Given the description of an element on the screen output the (x, y) to click on. 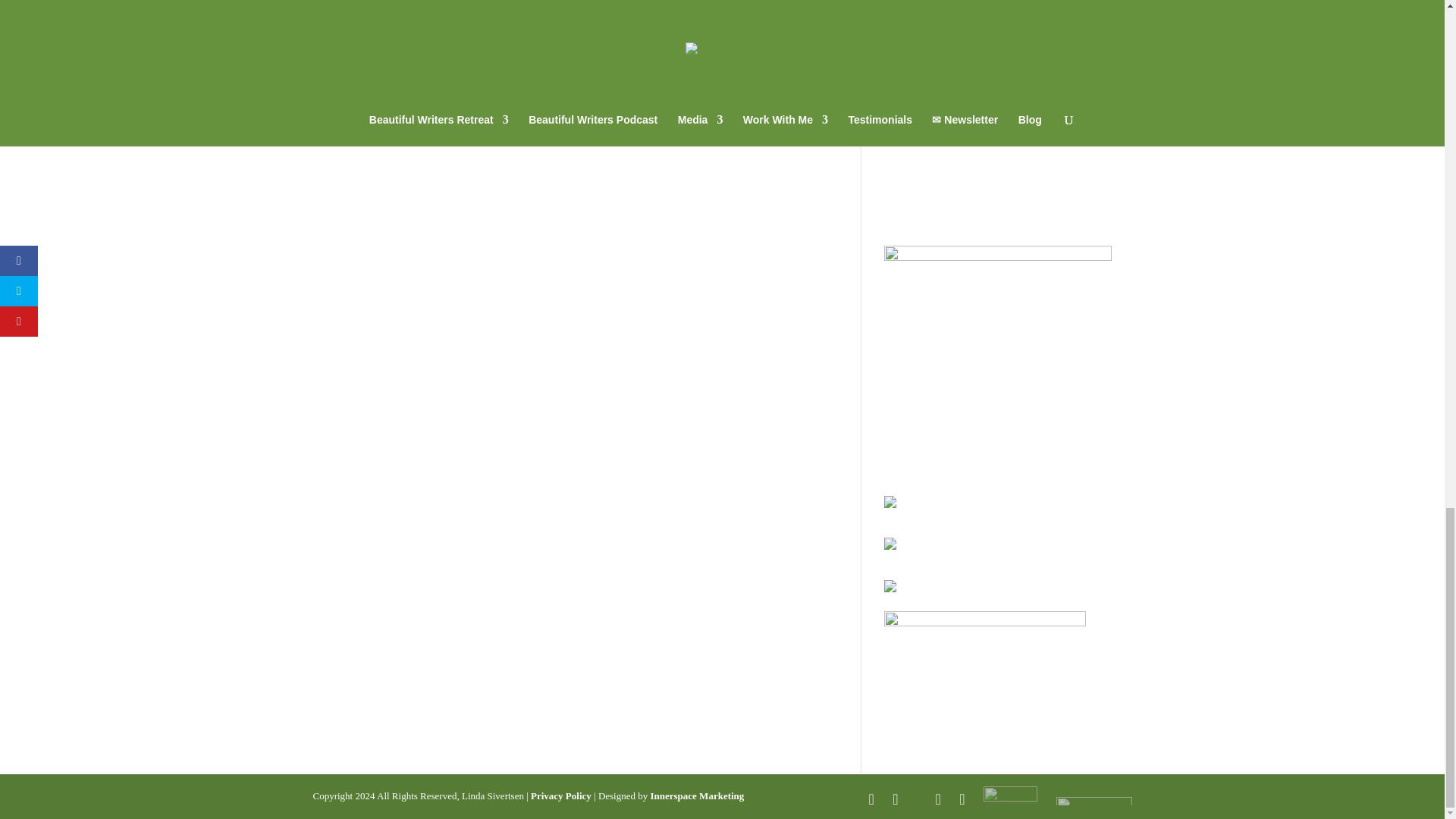
Innerspace Marketing (696, 795)
Become a member of (993, 5)
Privacy Policy (561, 795)
